Given the description of an element on the screen output the (x, y) to click on. 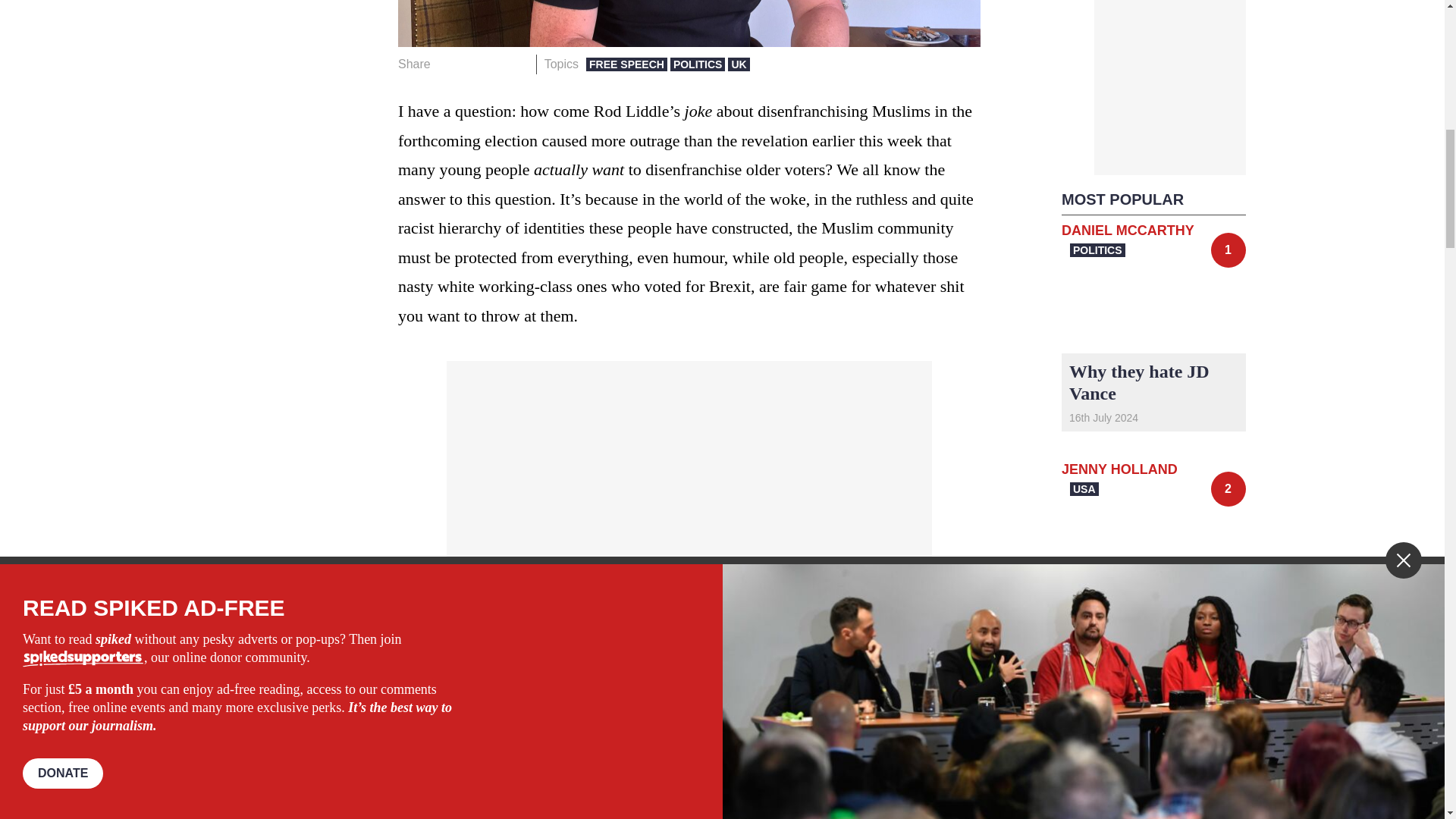
Share on Whatsapp (494, 64)
Share on Facebook (448, 64)
Share on Email (518, 64)
Share on Twitter (471, 64)
